Given the description of an element on the screen output the (x, y) to click on. 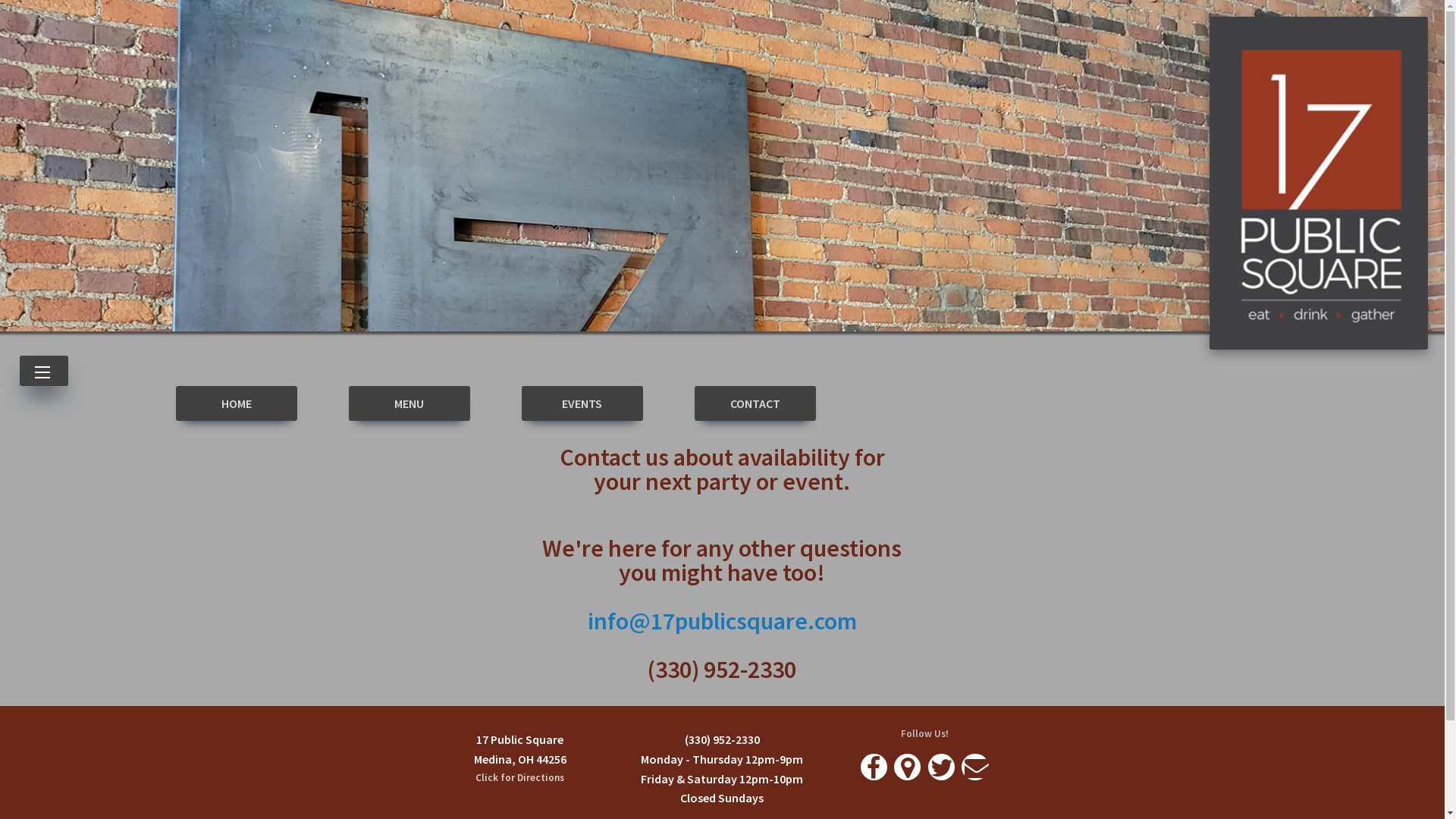
EVENTS Element type: text (581, 403)
HOME Element type: text (236, 403)
CONTACT Element type: text (754, 403)
17 Public Square
Medina, OH 44256
Click for Directions Element type: text (519, 757)
info@17publicsquare.com Element type: text (721, 620)
MENU Element type: text (408, 403)
